Given the description of an element on the screen output the (x, y) to click on. 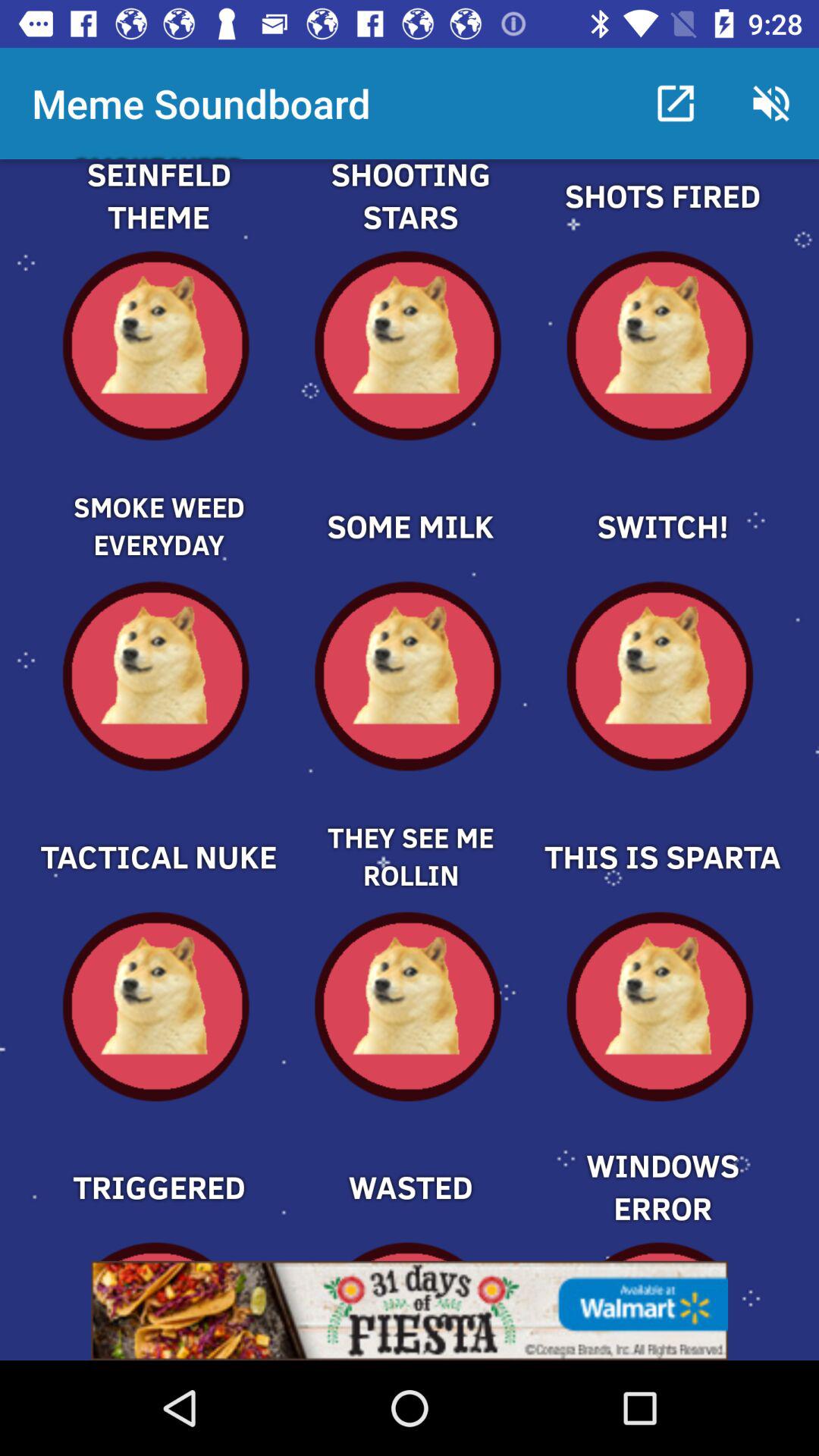
open webpage of displayed advertisement (409, 1310)
